Given the description of an element on the screen output the (x, y) to click on. 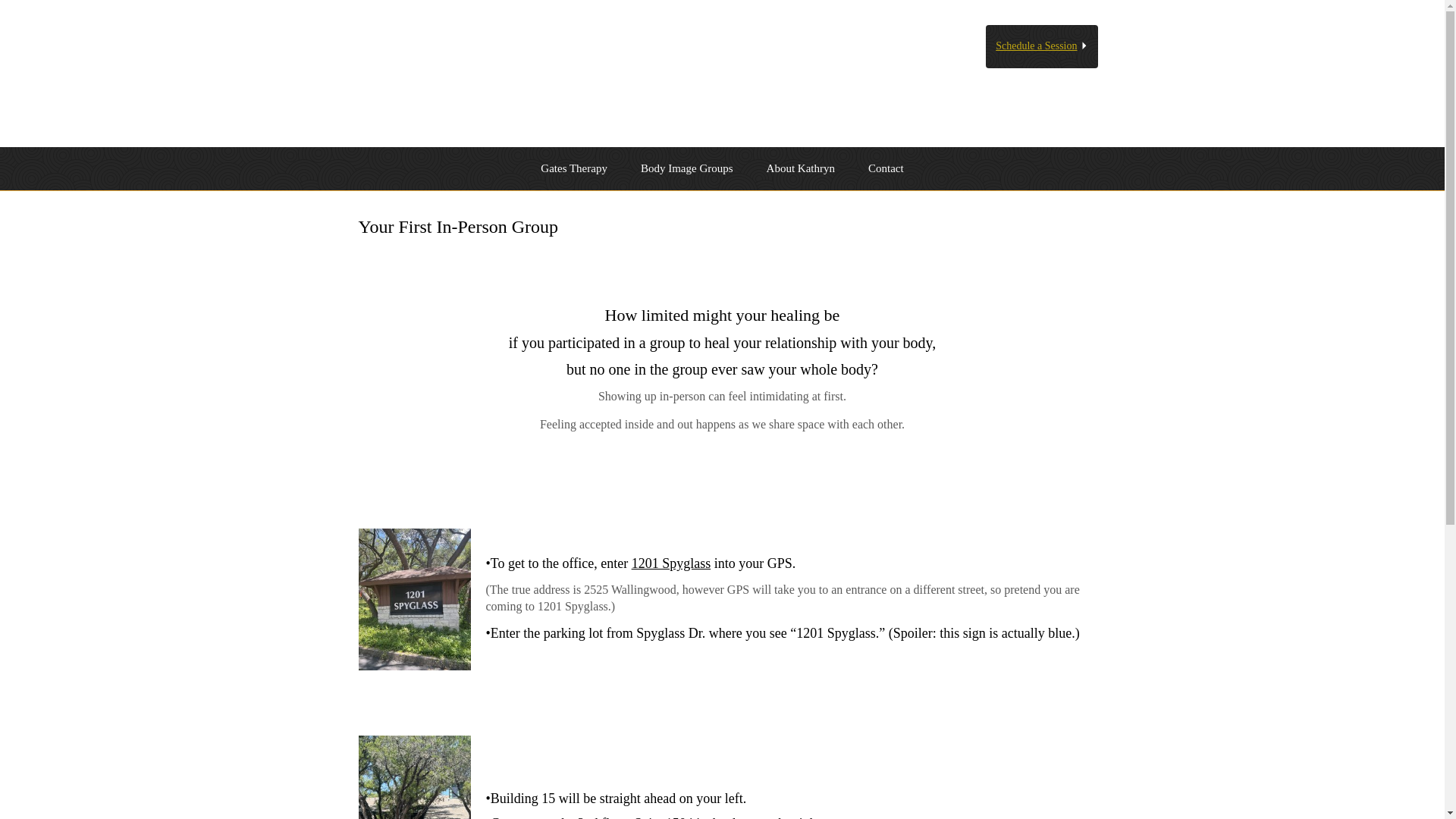
Gates Therapy (574, 168)
Body Image Groups (687, 168)
About Kathryn (800, 168)
About Kathryn (800, 168)
Body Image Groups (687, 168)
Contact (885, 168)
Gates Therapy (574, 168)
Contact (885, 168)
Schedule a Session (1041, 46)
